Given the description of an element on the screen output the (x, y) to click on. 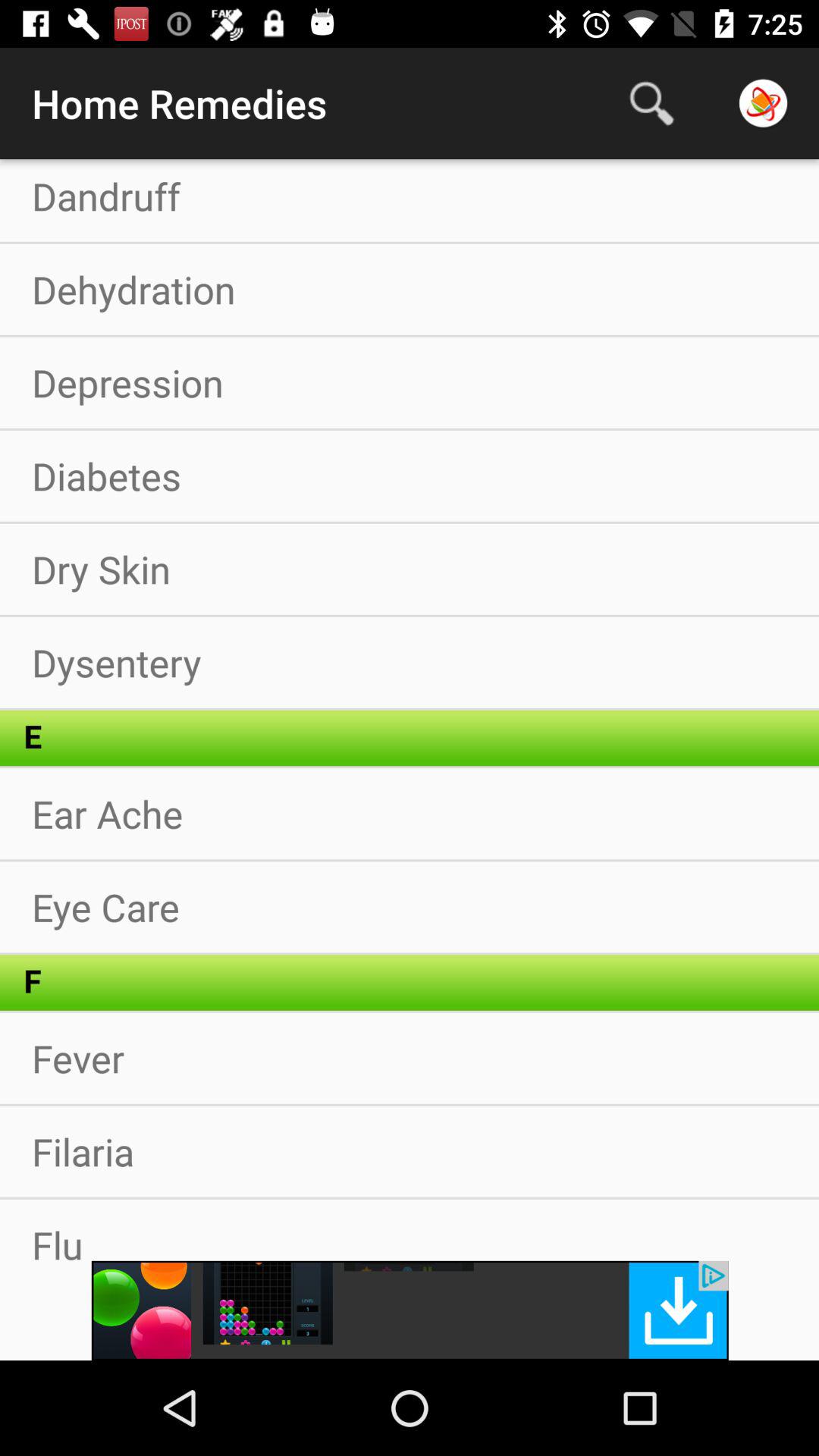
know about the advertisement (409, 1310)
